Given the description of an element on the screen output the (x, y) to click on. 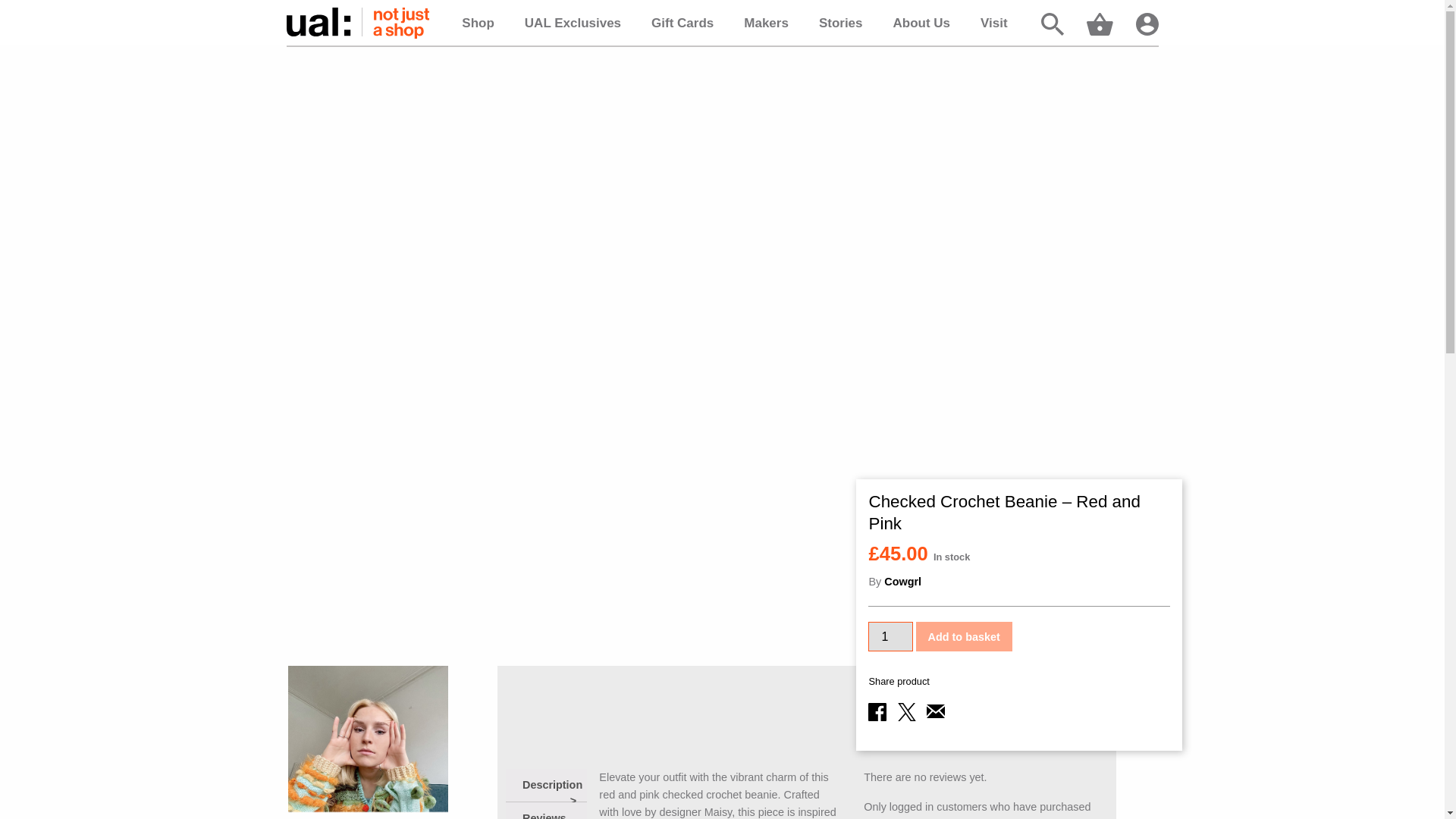
1 (889, 636)
Share on Twitter (906, 711)
Share via email (935, 716)
Qty (889, 636)
Share on Facebook (876, 711)
Home page (357, 22)
